Given the description of an element on the screen output the (x, y) to click on. 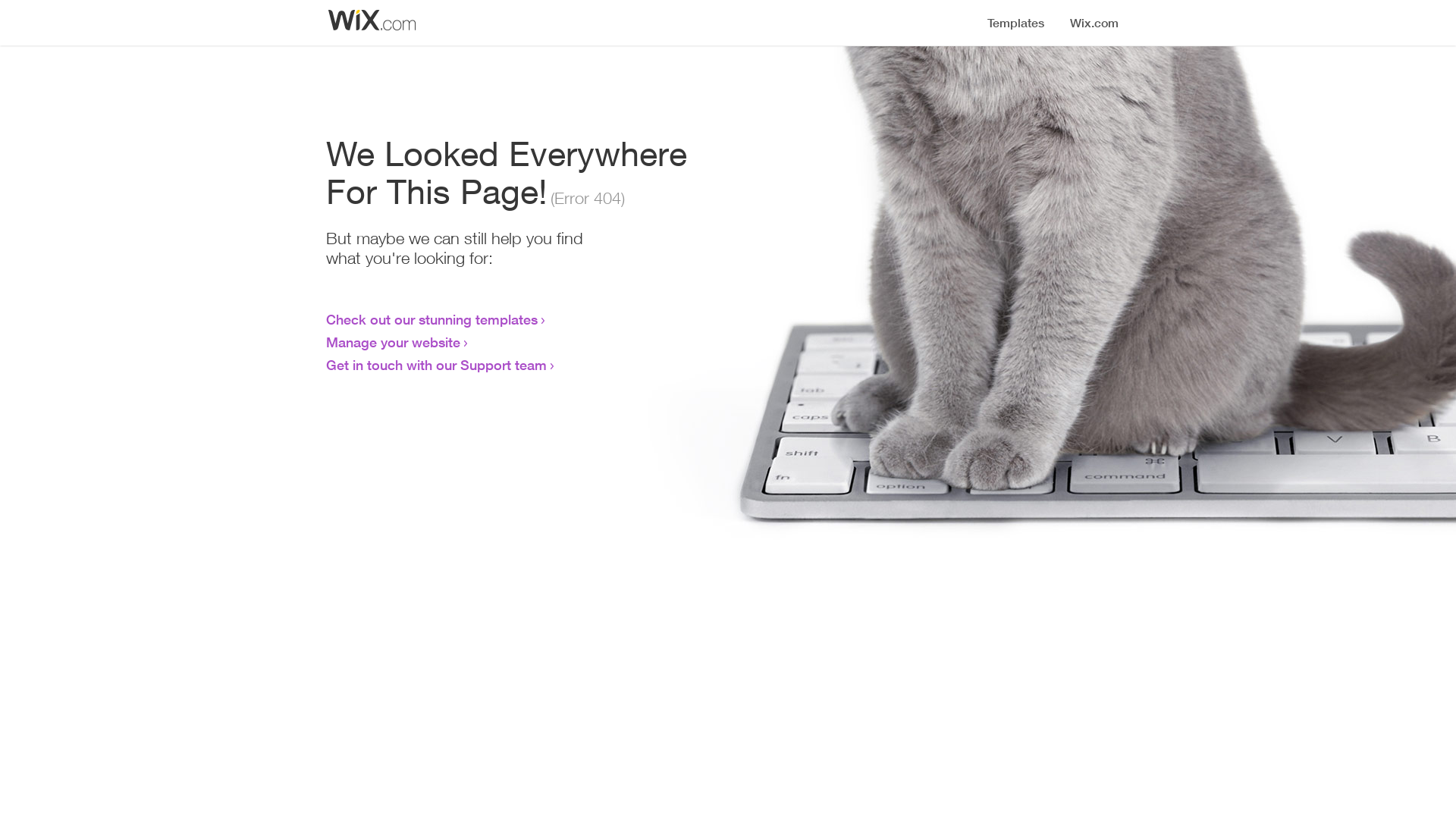
Get in touch with our Support team Element type: text (436, 364)
Manage your website Element type: text (393, 341)
Check out our stunning templates Element type: text (431, 318)
